Given the description of an element on the screen output the (x, y) to click on. 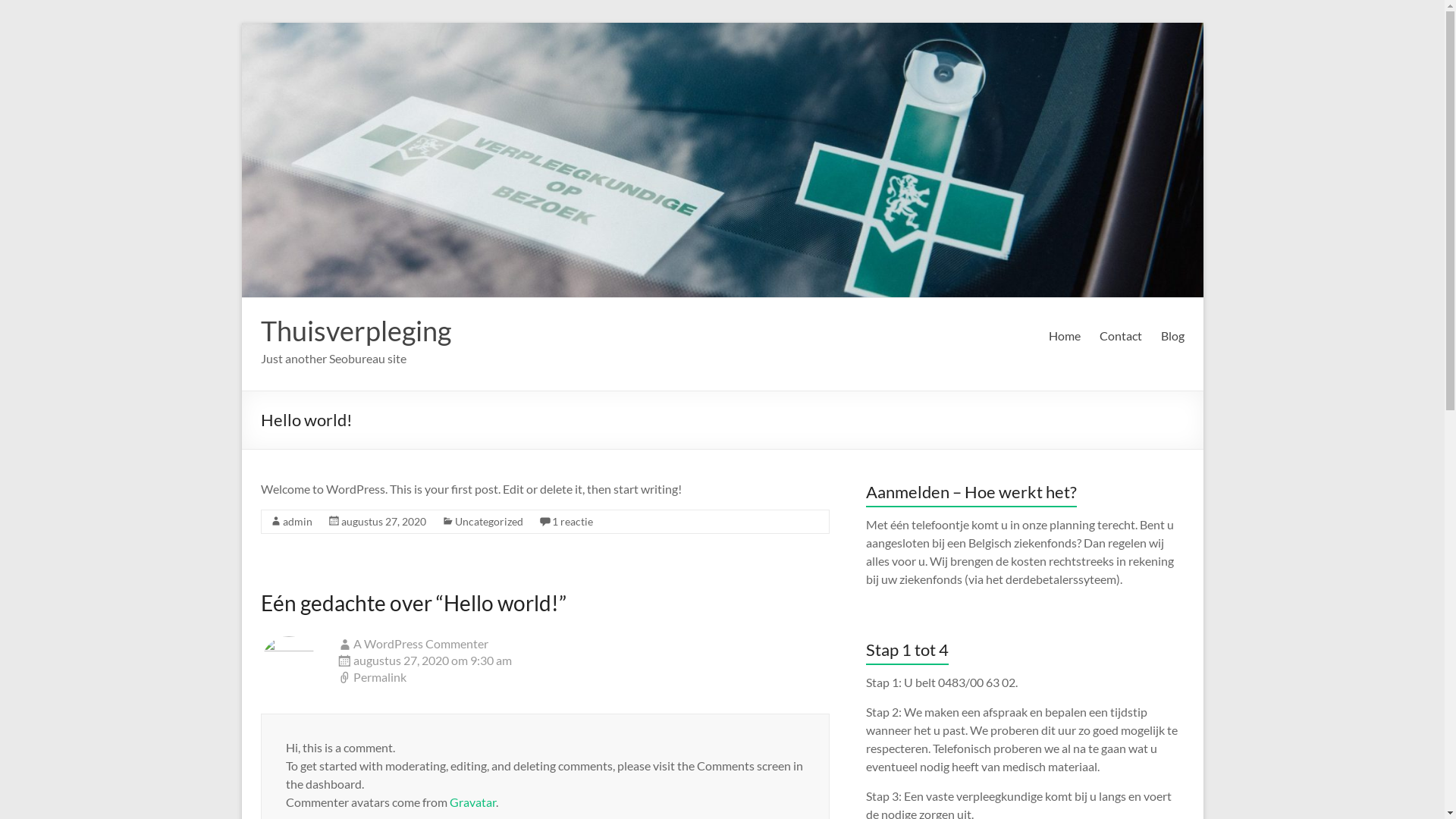
Blog Element type: text (1171, 335)
A WordPress Commenter Element type: text (420, 643)
Contact Element type: text (1120, 335)
augustus 27, 2020 Element type: text (383, 520)
Ga naar inhoud Element type: text (241, 21)
admin Element type: text (296, 520)
Permalink Element type: text (582, 677)
Home Element type: text (1063, 335)
1 reactie Element type: text (572, 520)
Uncategorized Element type: text (489, 520)
Thuisverpleging Element type: text (355, 330)
Gravatar Element type: text (471, 801)
